Given the description of an element on the screen output the (x, y) to click on. 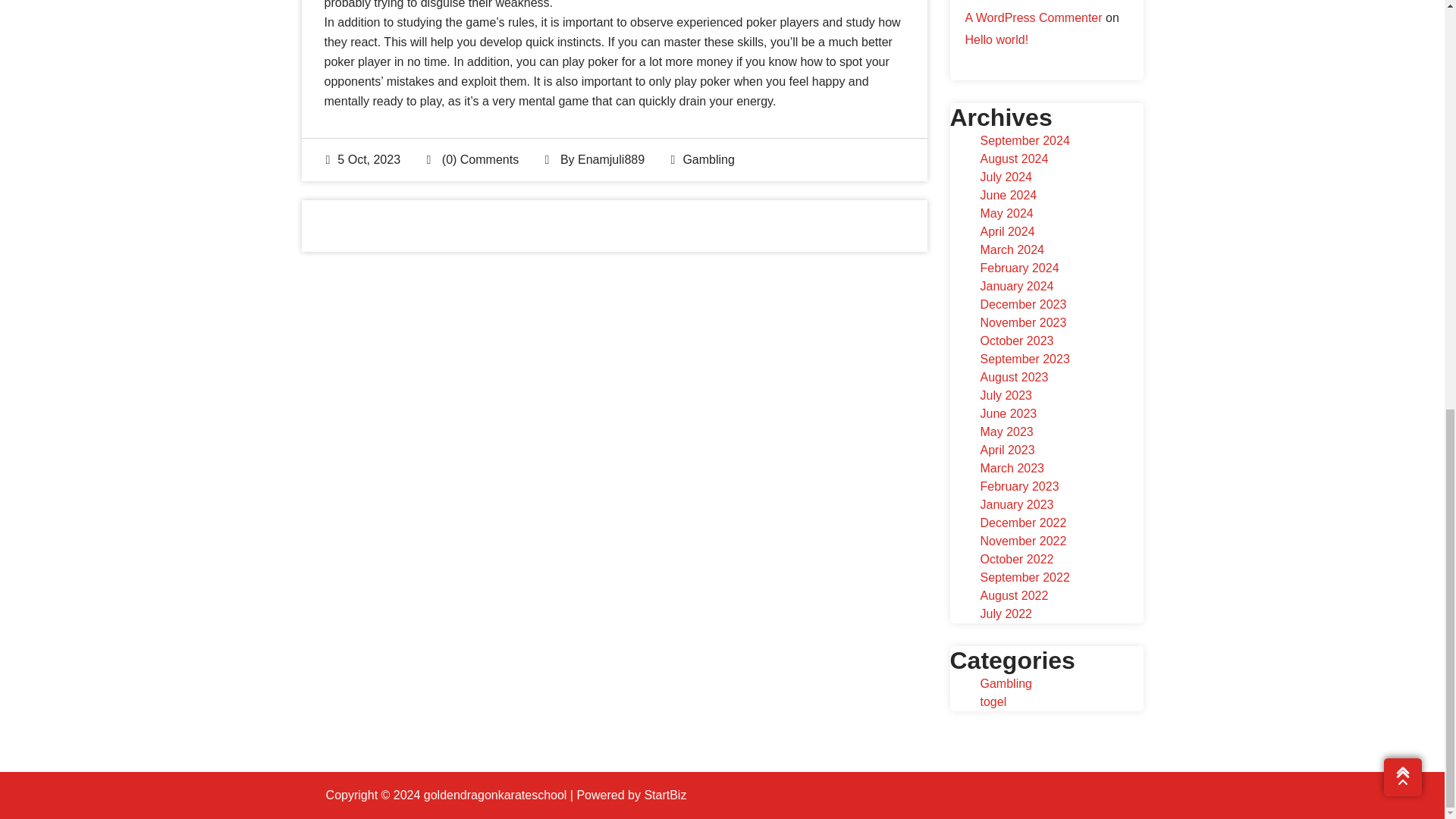
Gambling (707, 159)
5 Oct, 2023 (363, 159)
March 2024 (1011, 249)
July 2024 (1005, 176)
November 2023 (1022, 322)
June 2024 (1007, 195)
March 2023 (1011, 468)
A WordPress Commenter (1032, 17)
February 2023 (1018, 486)
May 2024 (1005, 213)
